Given the description of an element on the screen output the (x, y) to click on. 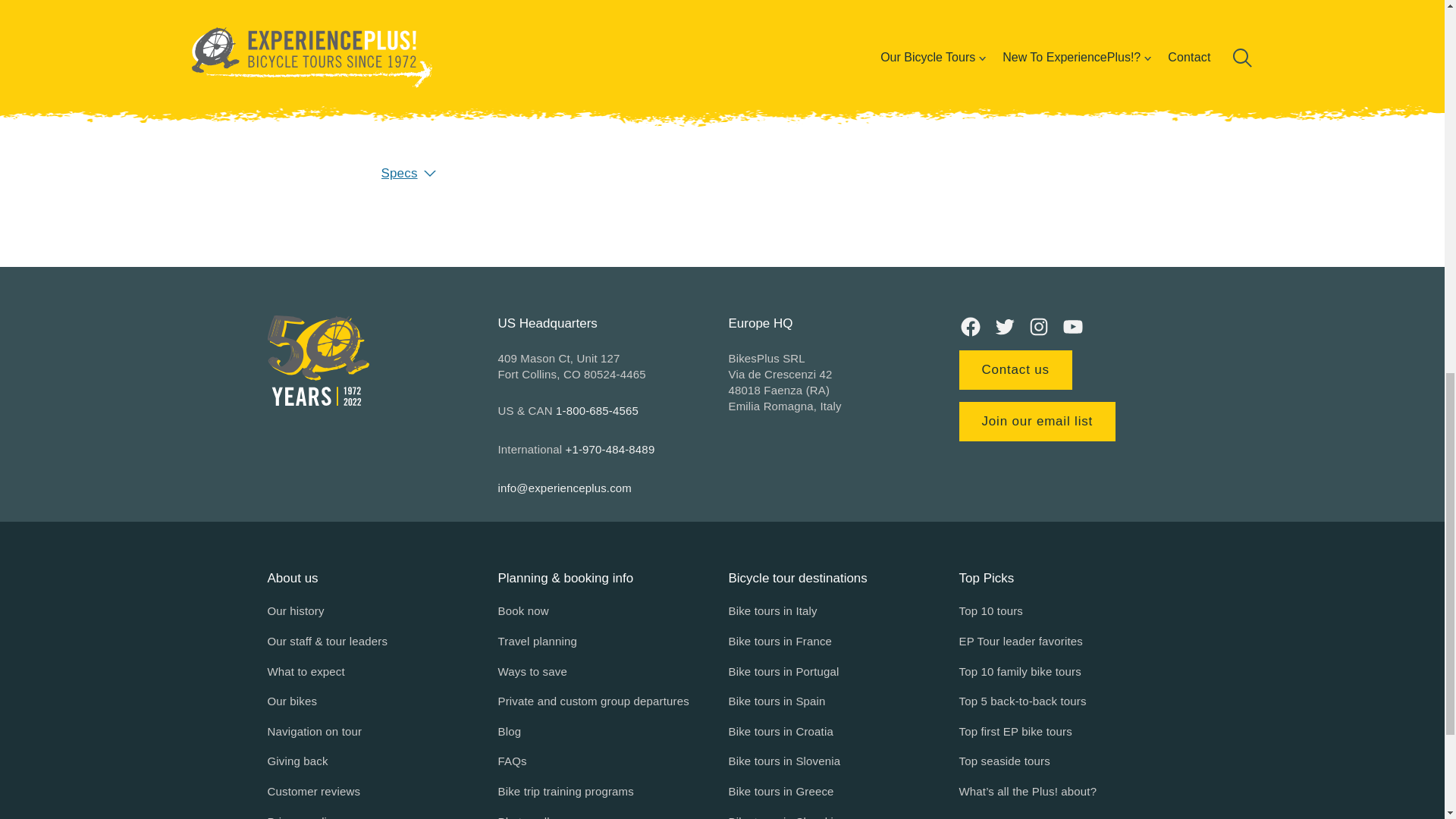
Instagram (1037, 326)
Click here. (614, 100)
Our bikes (291, 701)
Book now (522, 610)
Contact us (1014, 369)
Privacy policy (301, 815)
Specs (721, 173)
Navigation on tour (313, 731)
Facebook (969, 326)
Twitter (1004, 326)
